Given the description of an element on the screen output the (x, y) to click on. 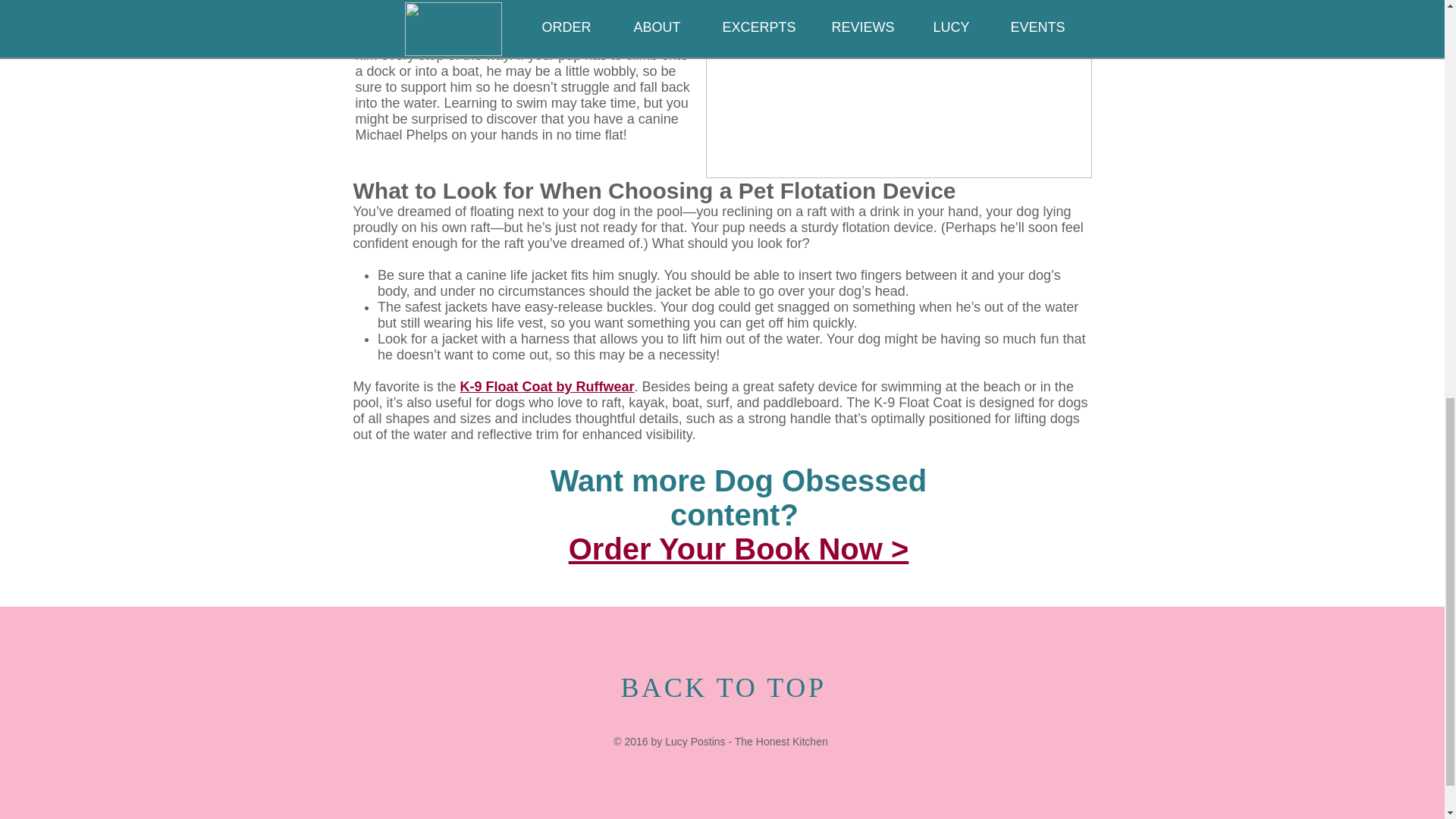
K-9 Float Coat by Ruffwear (547, 386)
BACK TO TOP (722, 687)
